Given the description of an element on the screen output the (x, y) to click on. 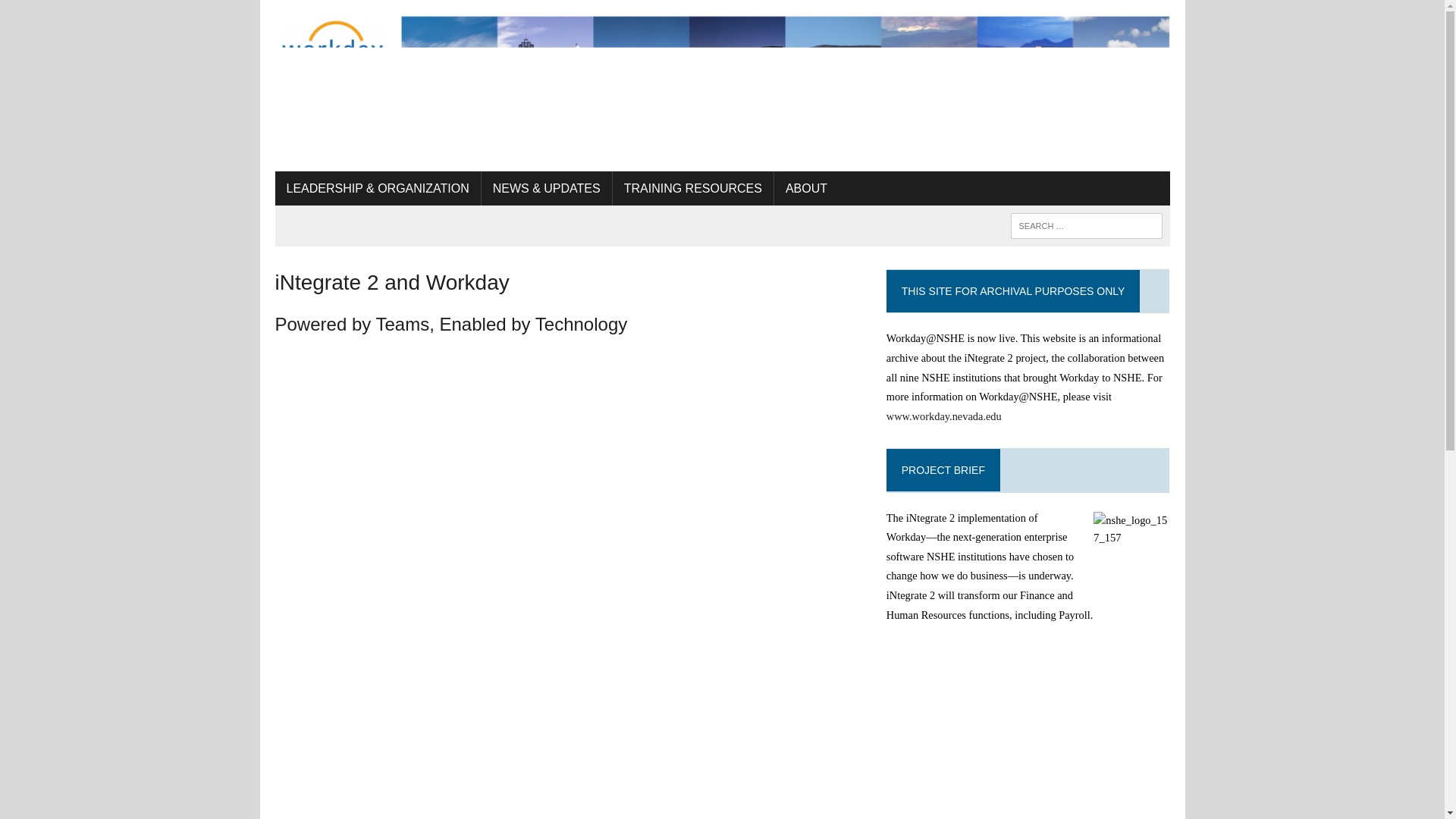
Search (75, 14)
ABOUT (806, 188)
www.workday.nevada.edu (943, 416)
TRAINING RESOURCES (692, 188)
